Given the description of an element on the screen output the (x, y) to click on. 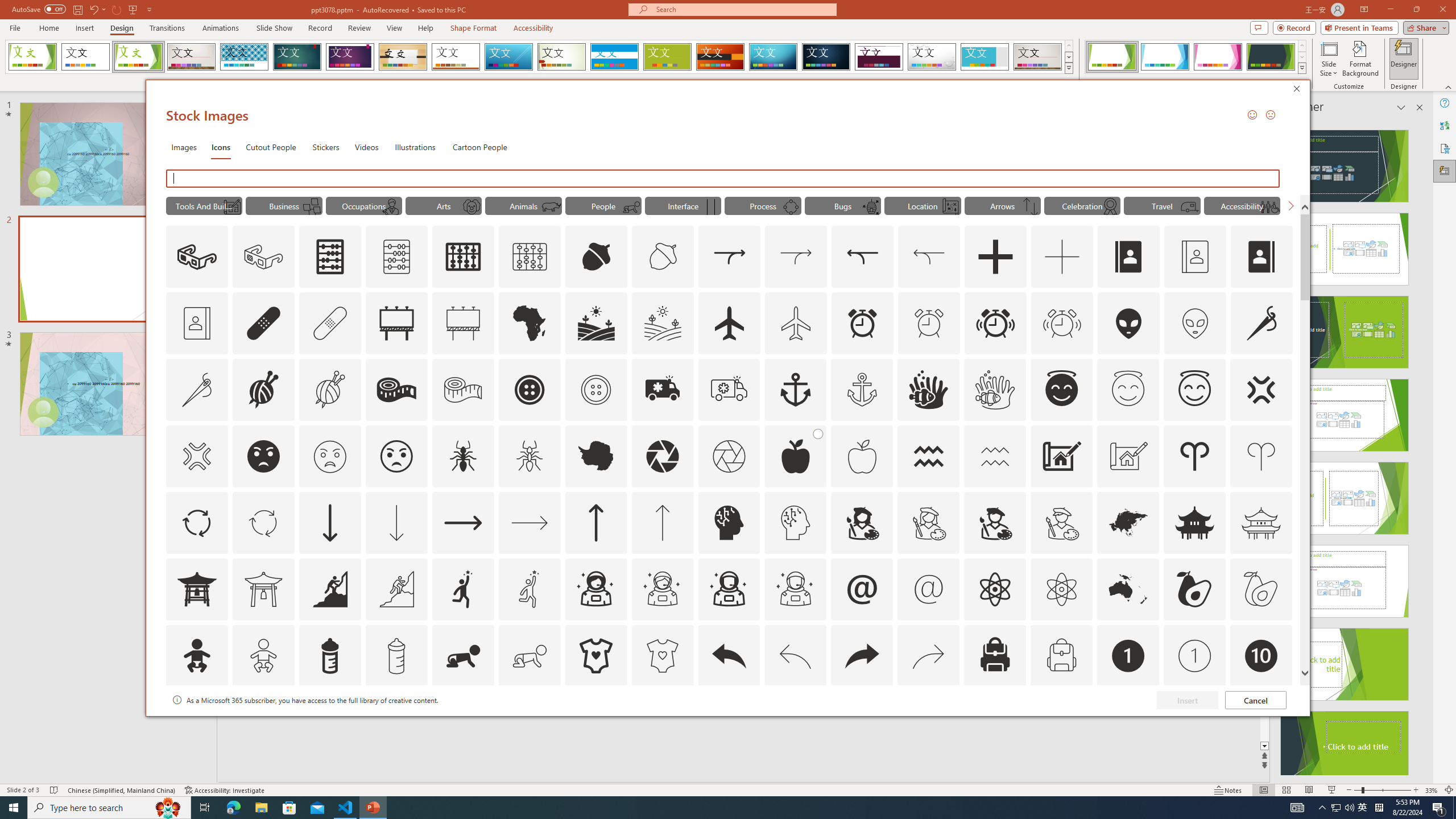
AutomationID: Icons_AsianTemple1_M (263, 588)
AutomationID: Icons_Back_LTR (729, 655)
AutomationID: Icons_Australia (1128, 588)
AutomationID: Icons_Aperture (662, 455)
AutomationID: Icons_Sort_M (1030, 206)
